Given the description of an element on the screen output the (x, y) to click on. 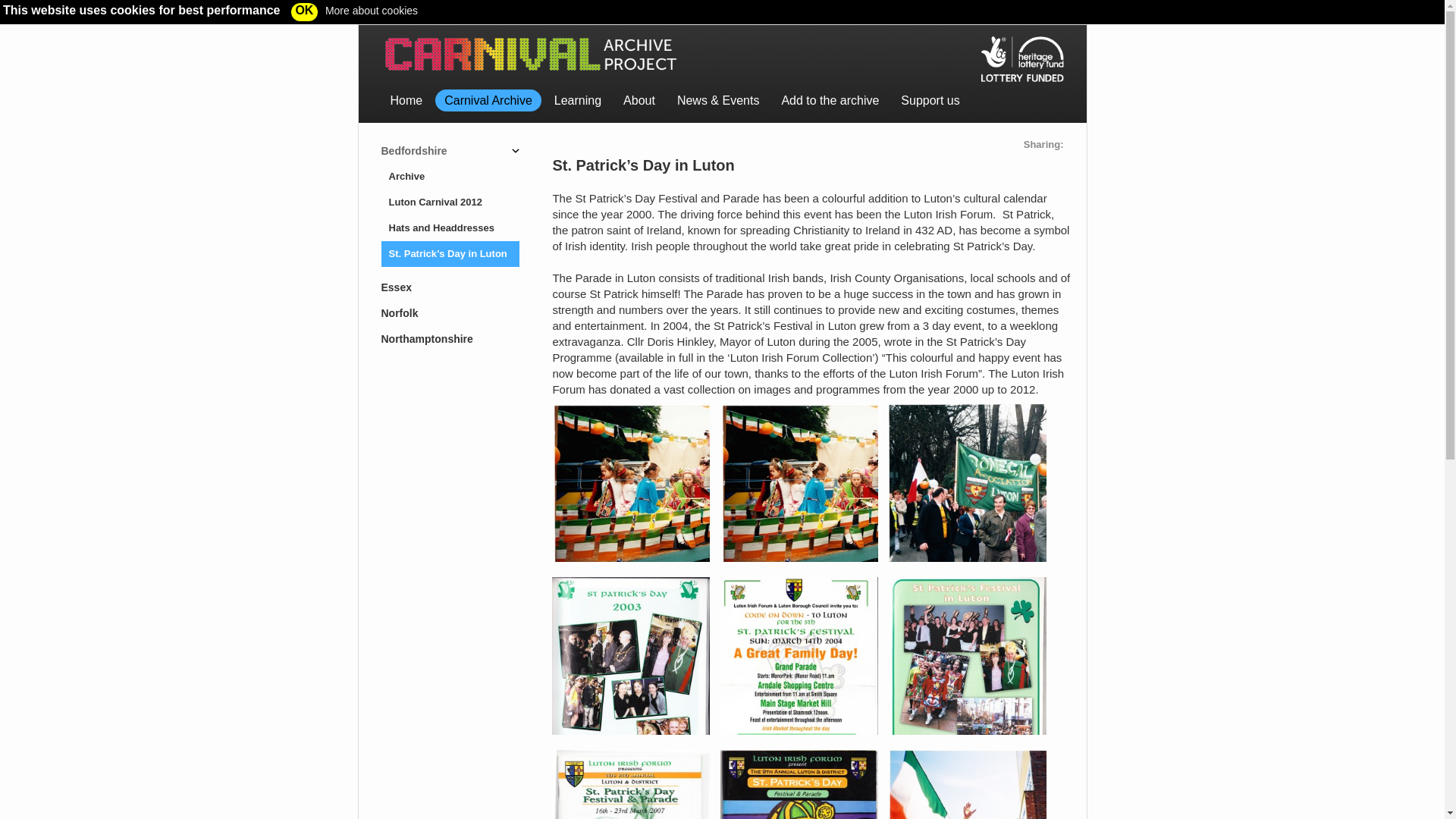
Learning (577, 100)
Bedfordshire (445, 150)
Norfolk (445, 312)
Hats and Headdresses (449, 227)
Northamptonshire (445, 338)
Carnival Archive (488, 100)
Home (405, 100)
Archive (449, 176)
More about cookies (367, 10)
Add to the archive (829, 100)
